Given the description of an element on the screen output the (x, y) to click on. 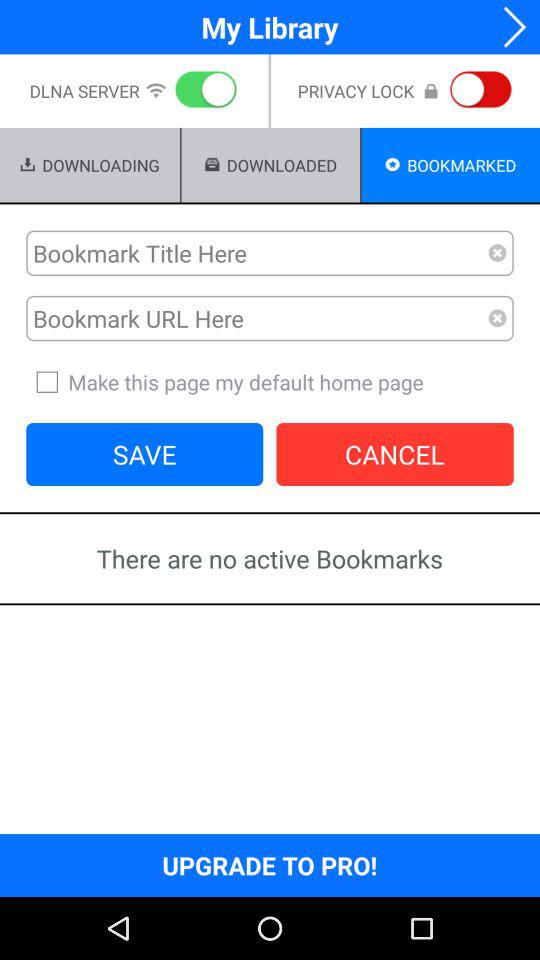
move forward (508, 26)
